Given the description of an element on the screen output the (x, y) to click on. 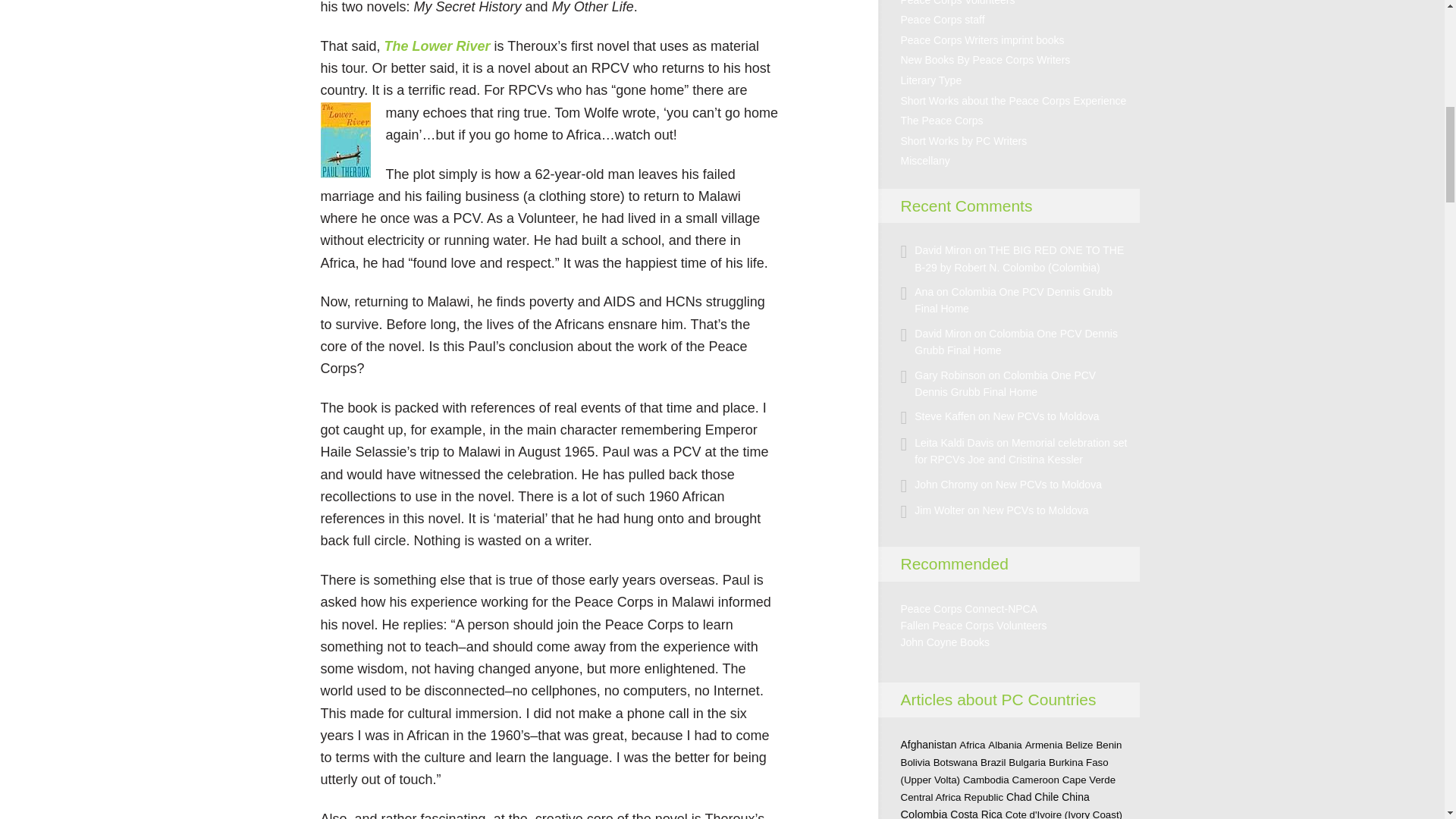
12 topics (955, 762)
6 topics (1027, 762)
9 topics (992, 762)
7 topics (972, 745)
21 topics (928, 744)
8 topics (1043, 745)
3 topics (1005, 745)
The Lower River (437, 46)
3 topics (1108, 745)
12 topics (915, 762)
